Given the description of an element on the screen output the (x, y) to click on. 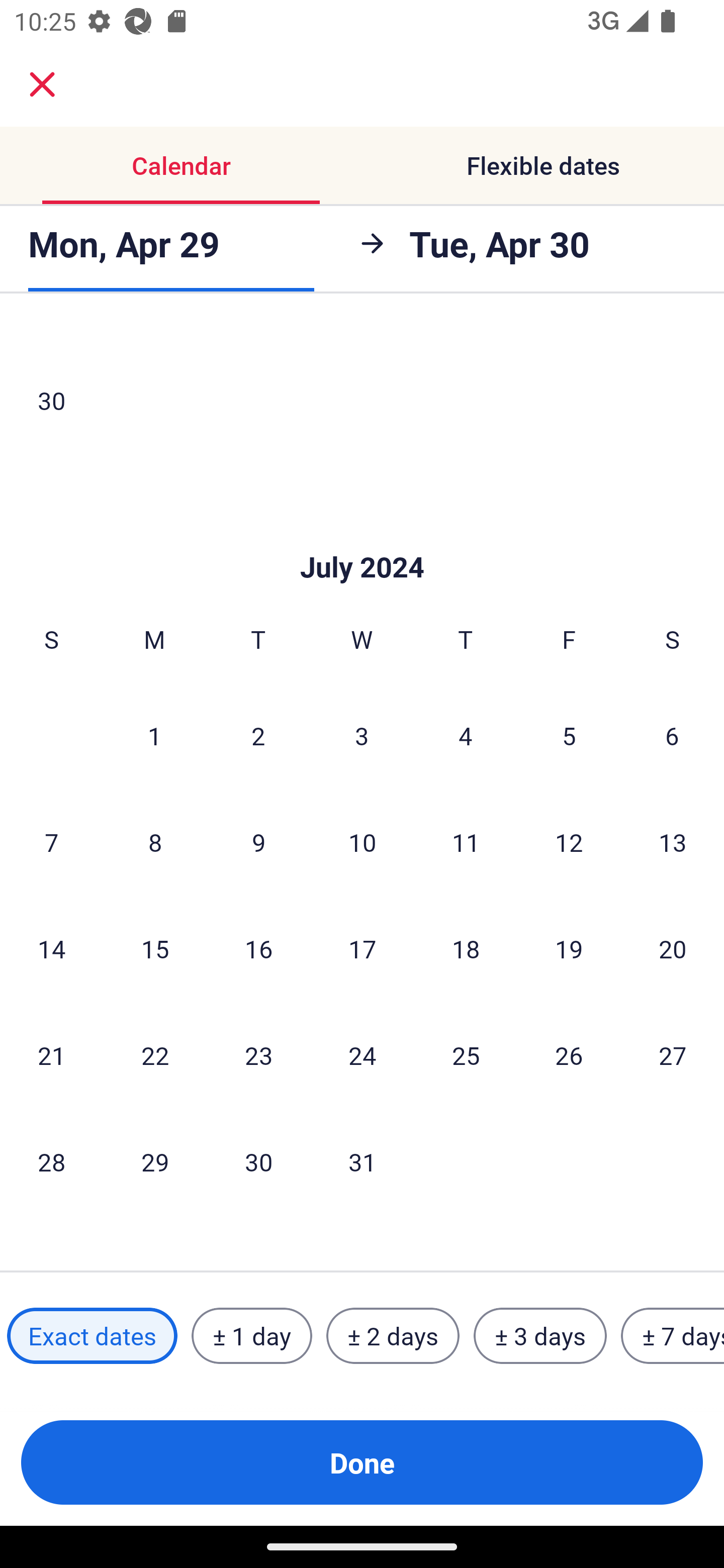
close. (42, 84)
Flexible dates (542, 164)
30 Sunday, June 30, 2024 (51, 399)
Skip to Done (362, 537)
1 Monday, July 1, 2024 (154, 735)
2 Tuesday, July 2, 2024 (257, 735)
3 Wednesday, July 3, 2024 (361, 735)
4 Thursday, July 4, 2024 (465, 735)
5 Friday, July 5, 2024 (568, 735)
6 Saturday, July 6, 2024 (672, 735)
7 Sunday, July 7, 2024 (51, 841)
8 Monday, July 8, 2024 (155, 841)
9 Tuesday, July 9, 2024 (258, 841)
10 Wednesday, July 10, 2024 (362, 841)
11 Thursday, July 11, 2024 (465, 841)
12 Friday, July 12, 2024 (569, 841)
13 Saturday, July 13, 2024 (672, 841)
14 Sunday, July 14, 2024 (51, 948)
15 Monday, July 15, 2024 (155, 948)
16 Tuesday, July 16, 2024 (258, 948)
17 Wednesday, July 17, 2024 (362, 948)
18 Thursday, July 18, 2024 (465, 948)
19 Friday, July 19, 2024 (569, 948)
20 Saturday, July 20, 2024 (672, 948)
21 Sunday, July 21, 2024 (51, 1055)
22 Monday, July 22, 2024 (155, 1055)
23 Tuesday, July 23, 2024 (258, 1055)
24 Wednesday, July 24, 2024 (362, 1055)
25 Thursday, July 25, 2024 (465, 1055)
26 Friday, July 26, 2024 (569, 1055)
27 Saturday, July 27, 2024 (672, 1055)
28 Sunday, July 28, 2024 (51, 1161)
29 Monday, July 29, 2024 (155, 1161)
30 Tuesday, July 30, 2024 (258, 1161)
31 Wednesday, July 31, 2024 (362, 1161)
Exact dates (92, 1335)
± 1 day (251, 1335)
± 2 days (392, 1335)
± 3 days (539, 1335)
± 7 days (672, 1335)
Done (361, 1462)
